Given the description of an element on the screen output the (x, y) to click on. 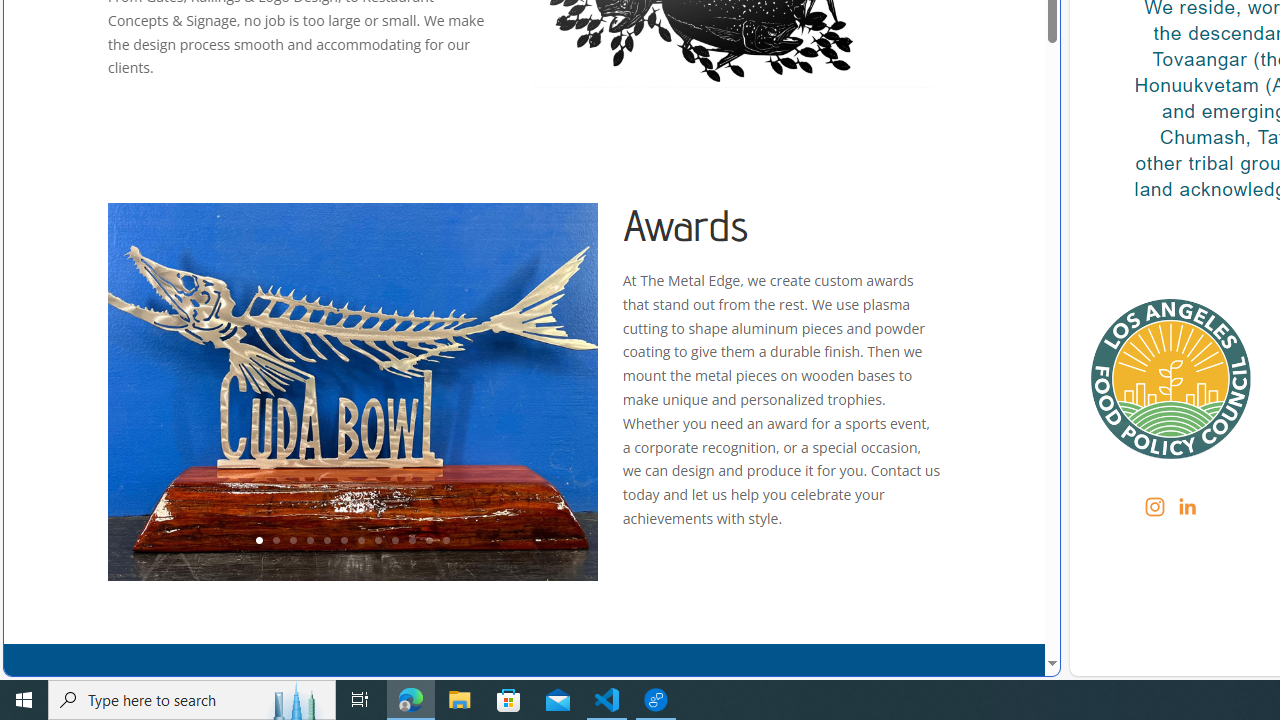
4 (309, 541)
LinkedIn (1186, 506)
1 (258, 541)
8 (377, 541)
3 (292, 541)
Class: sqs-svg-icon--social (1187, 506)
10 (412, 541)
12 (445, 541)
2 (275, 541)
5 (326, 541)
11 (428, 541)
Instagram (1154, 506)
6 (344, 541)
9 (394, 541)
7 (360, 541)
